Given the description of an element on the screen output the (x, y) to click on. 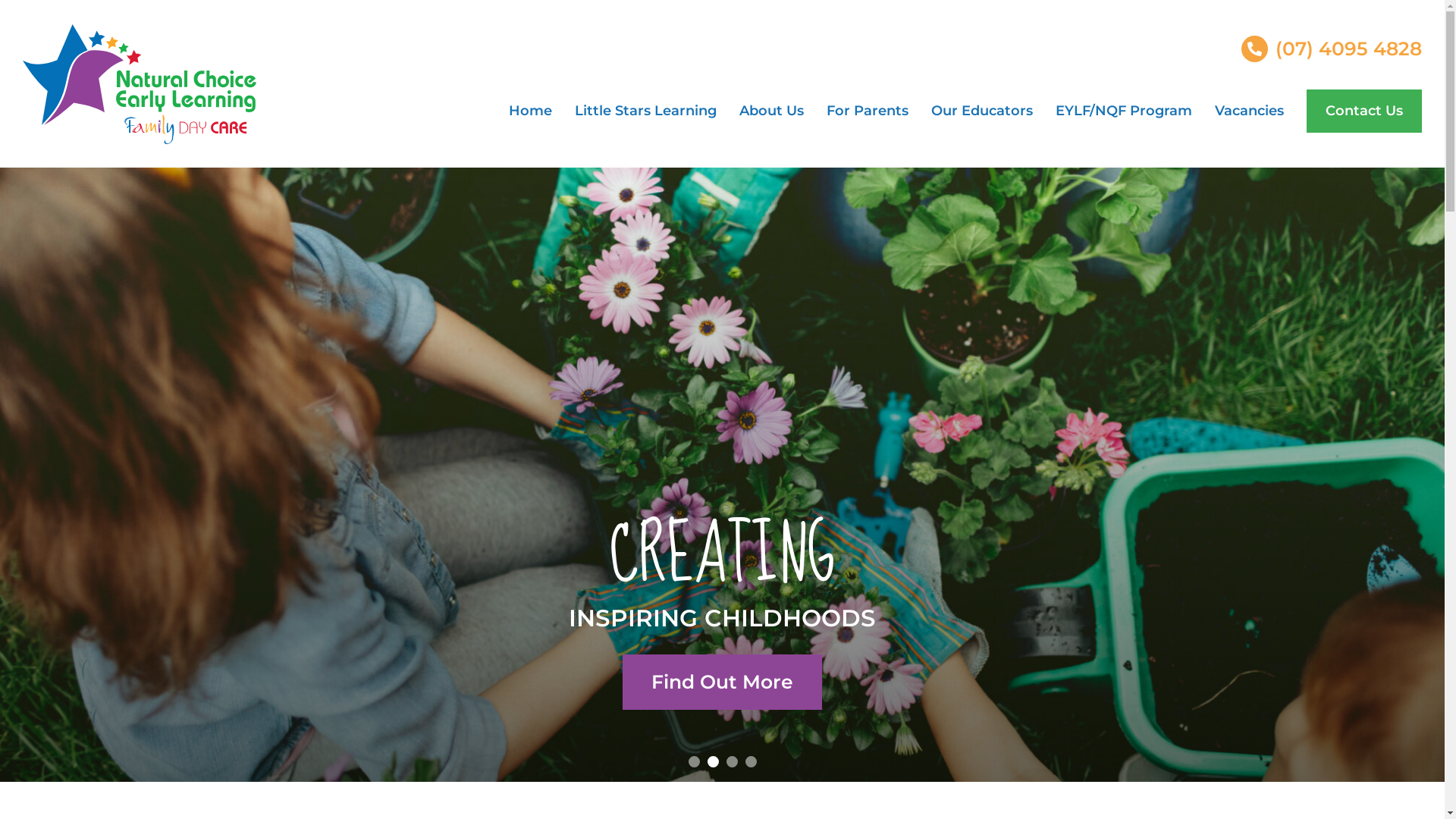
Home Element type: text (530, 110)
(07) 4095 4828 Element type: text (1331, 47)
Contact Us Element type: text (1363, 110)
Vacancies Element type: text (1249, 110)
Our Educators Element type: text (981, 110)
Find Out More Element type: text (722, 682)
Little Stars Learning Element type: text (645, 110)
EYLF/NQF Program Element type: text (1123, 110)
For Parents Element type: text (867, 110)
About Us Element type: text (771, 110)
